Given the description of an element on the screen output the (x, y) to click on. 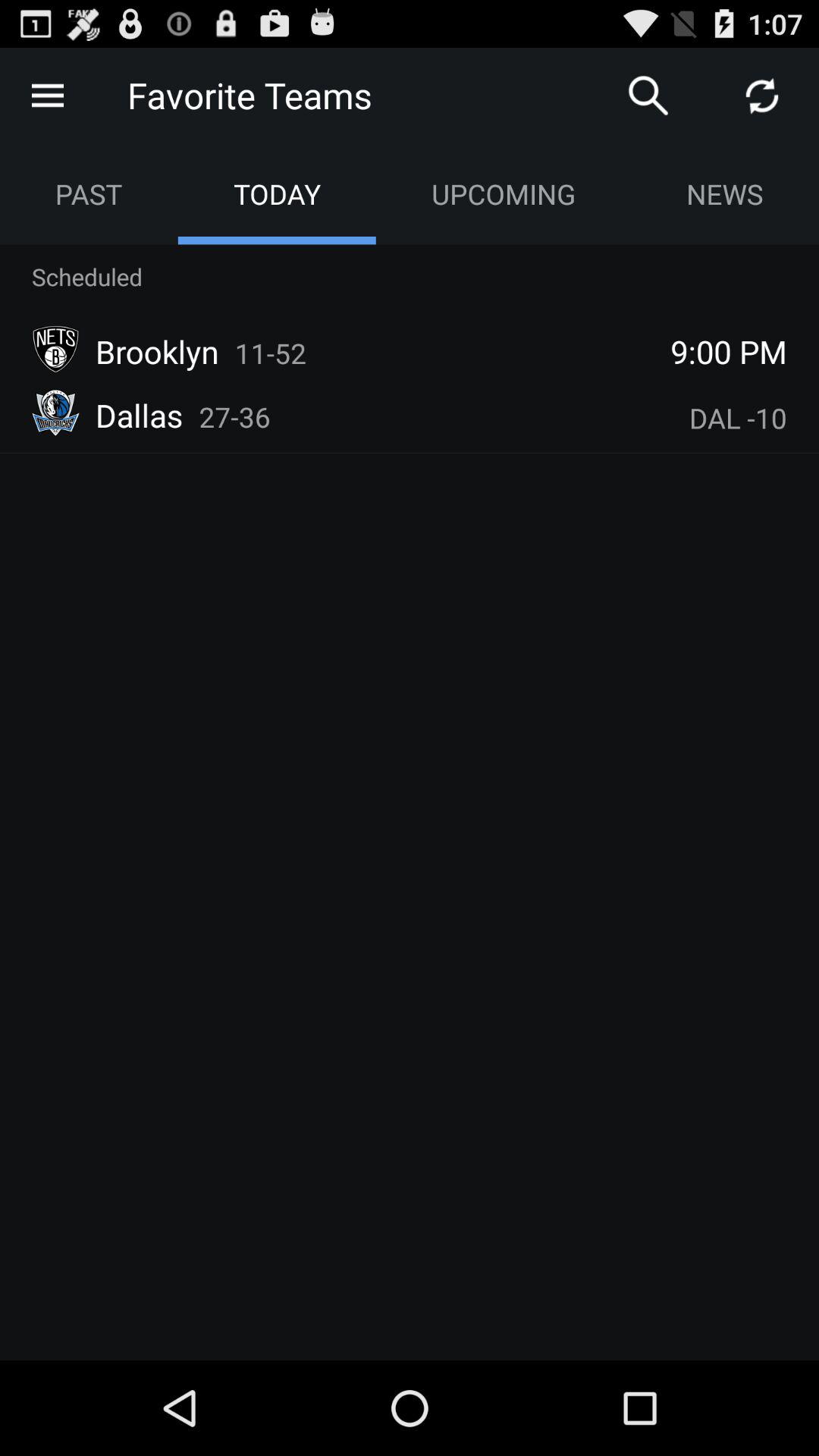
search (648, 95)
